Given the description of an element on the screen output the (x, y) to click on. 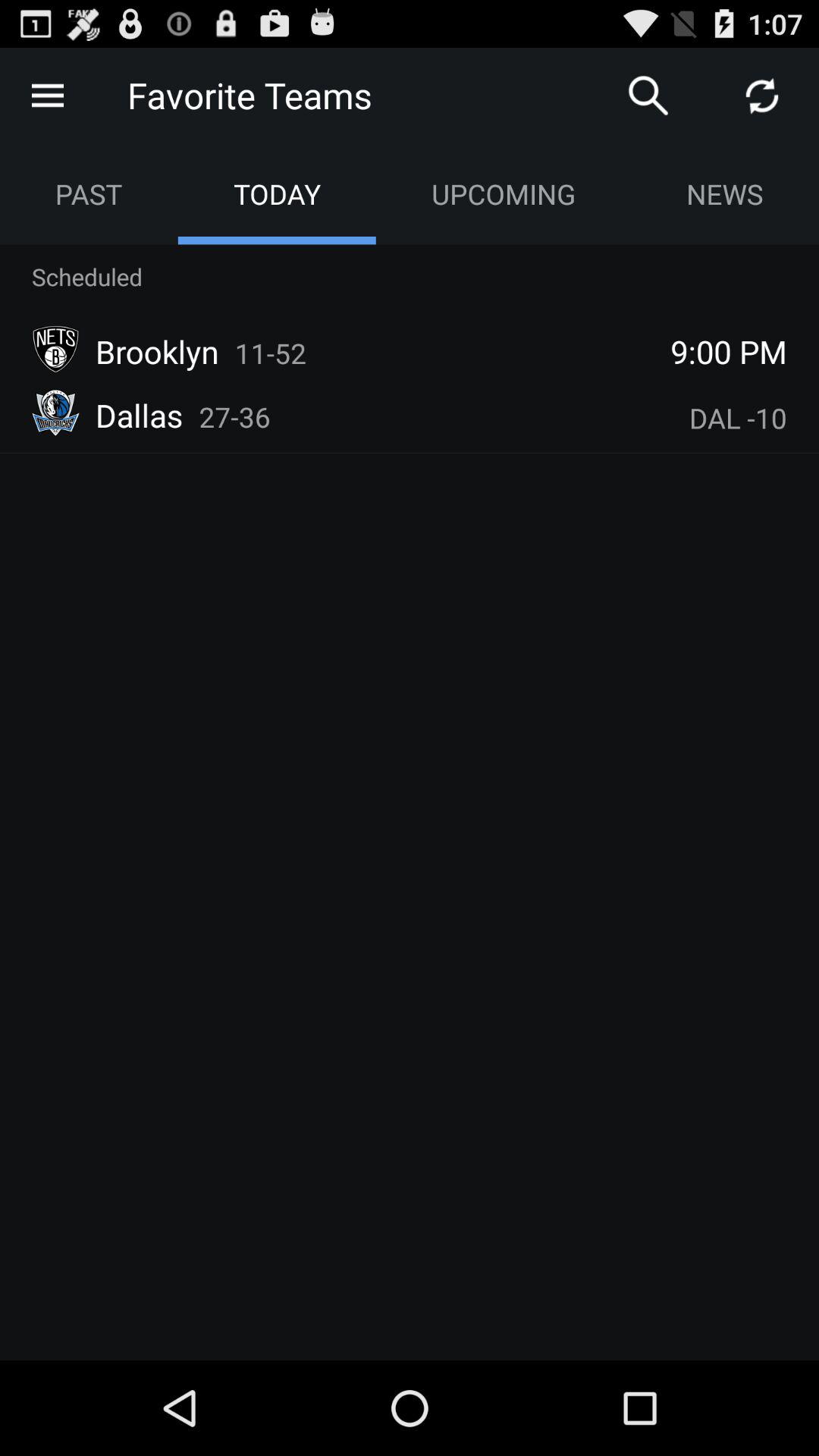
search (648, 95)
